Given the description of an element on the screen output the (x, y) to click on. 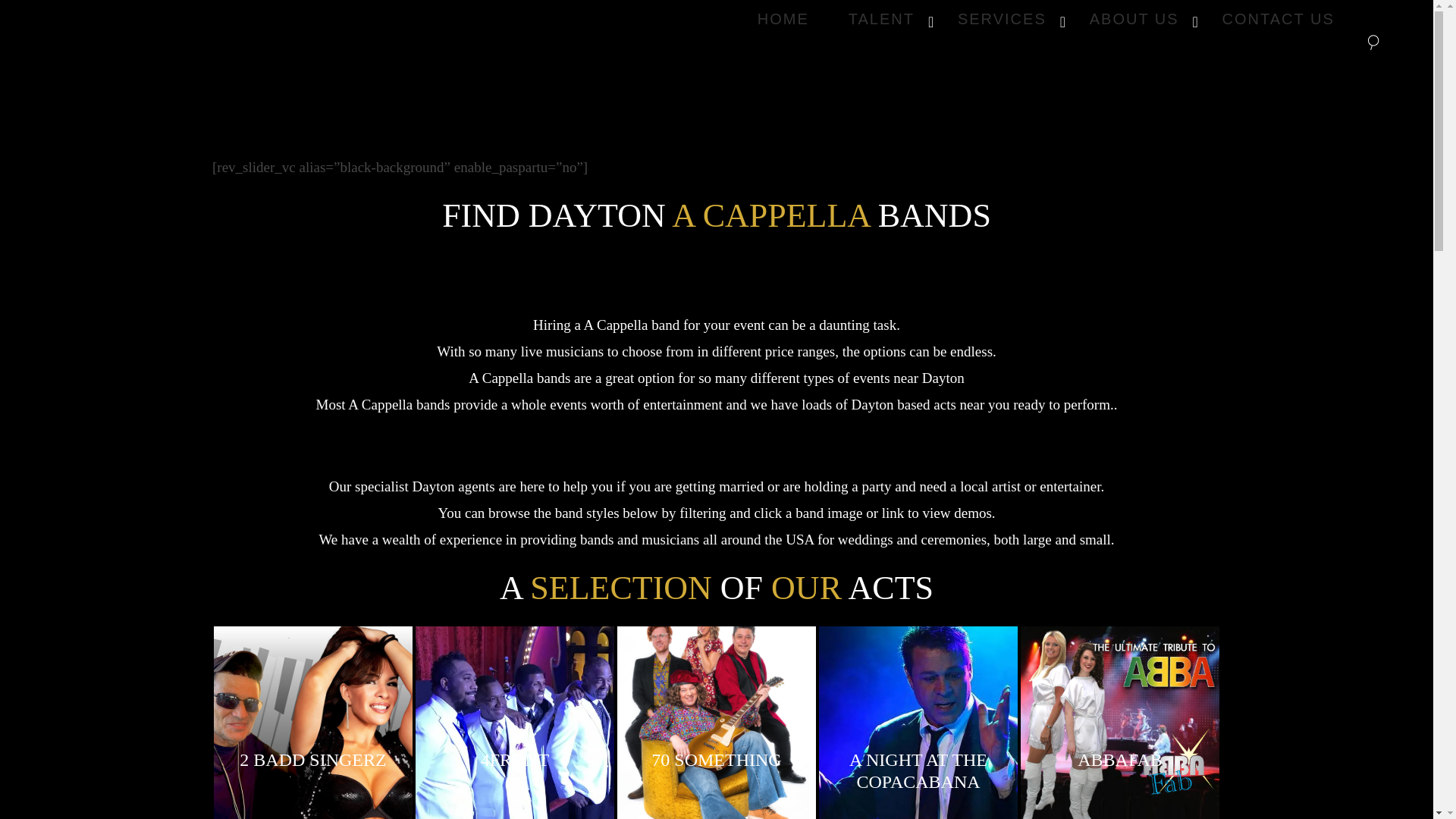
HOME (1046, 18)
CONTACT US (783, 18)
